Given the description of an element on the screen output the (x, y) to click on. 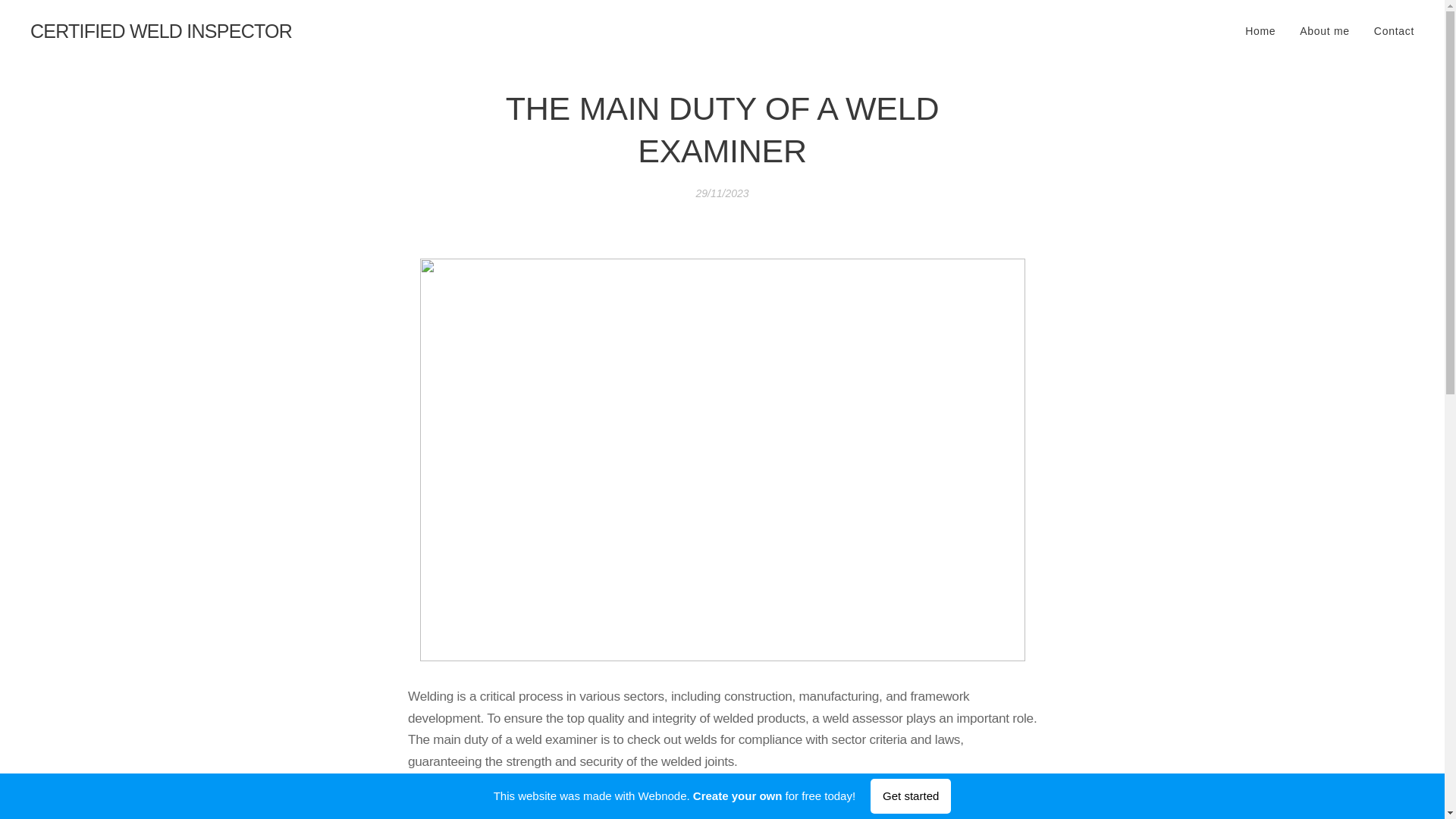
certified weld inspector (520, 815)
Home (1264, 30)
About me (1324, 30)
CERTIFIED WELD INSPECTOR (161, 31)
Contact (1387, 30)
